Given the description of an element on the screen output the (x, y) to click on. 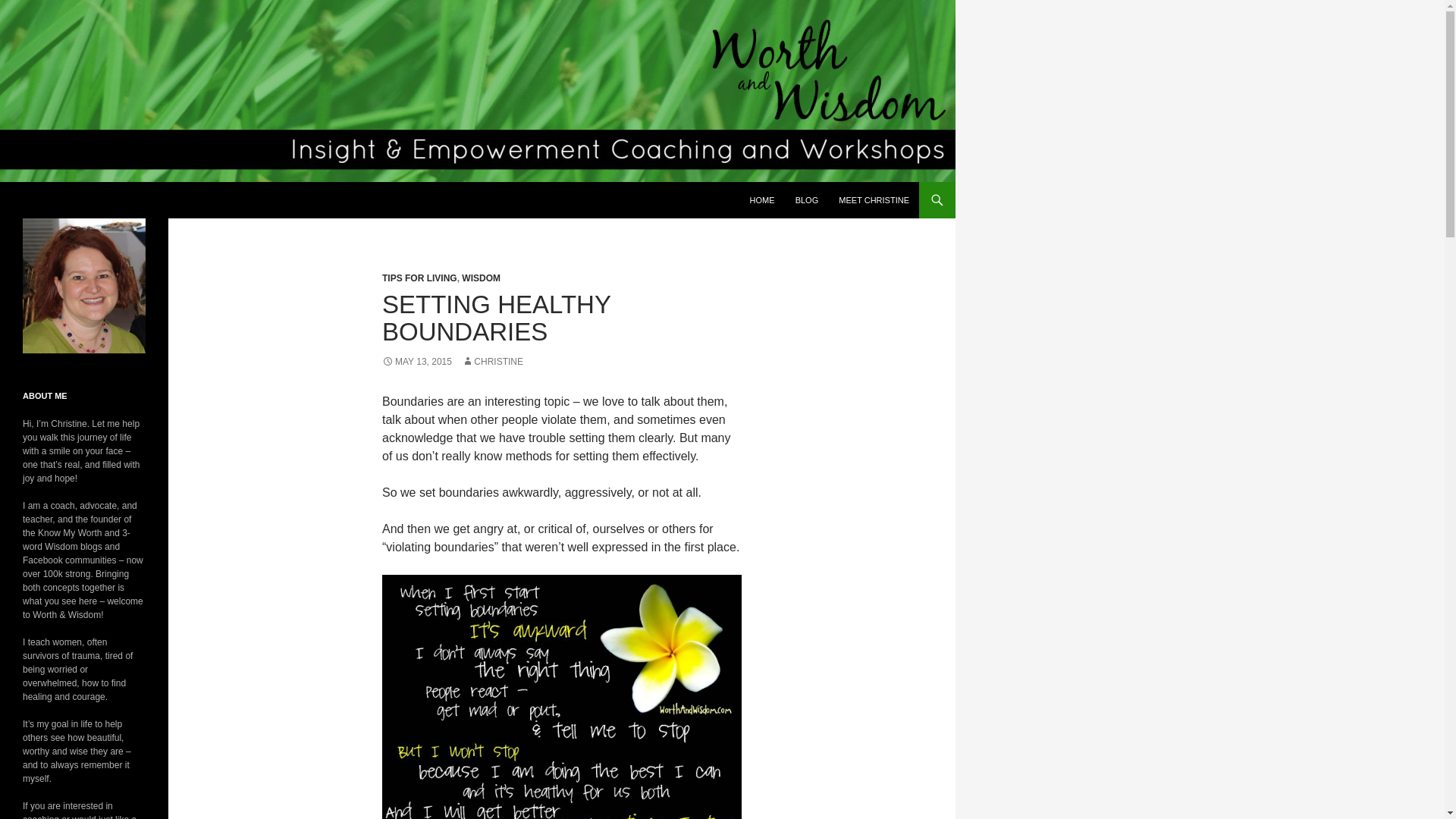
BLOG (807, 199)
CHRISTINE (491, 361)
MEET CHRISTINE (873, 199)
TIPS FOR LIVING (419, 277)
HOME (762, 199)
MAY 13, 2015 (416, 361)
WISDOM (480, 277)
